Given the description of an element on the screen output the (x, y) to click on. 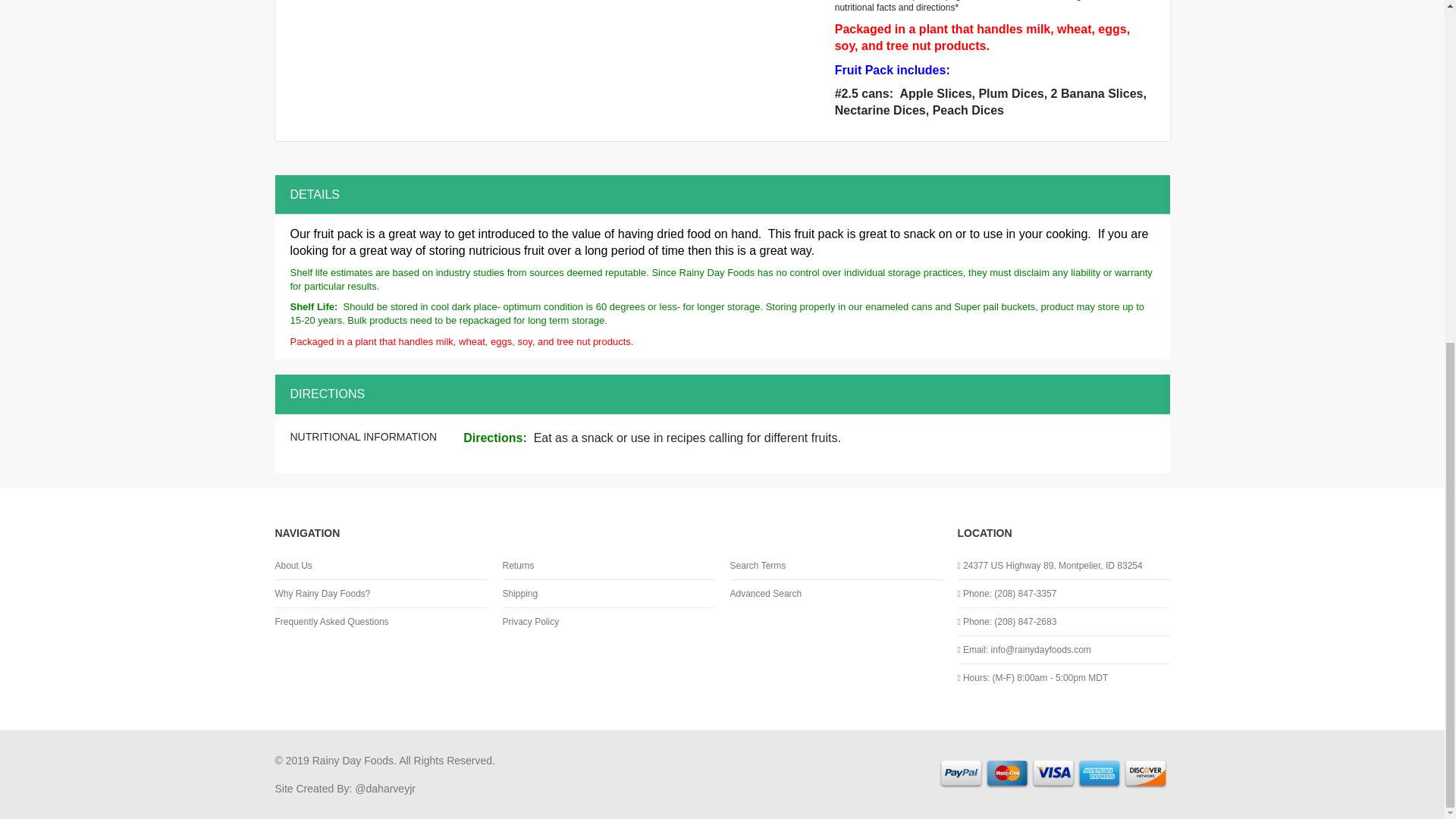
Apple Slices (935, 92)
Nectarine Dices (880, 110)
Banana Slices (1101, 92)
Plum Dices (1010, 92)
